Given the description of an element on the screen output the (x, y) to click on. 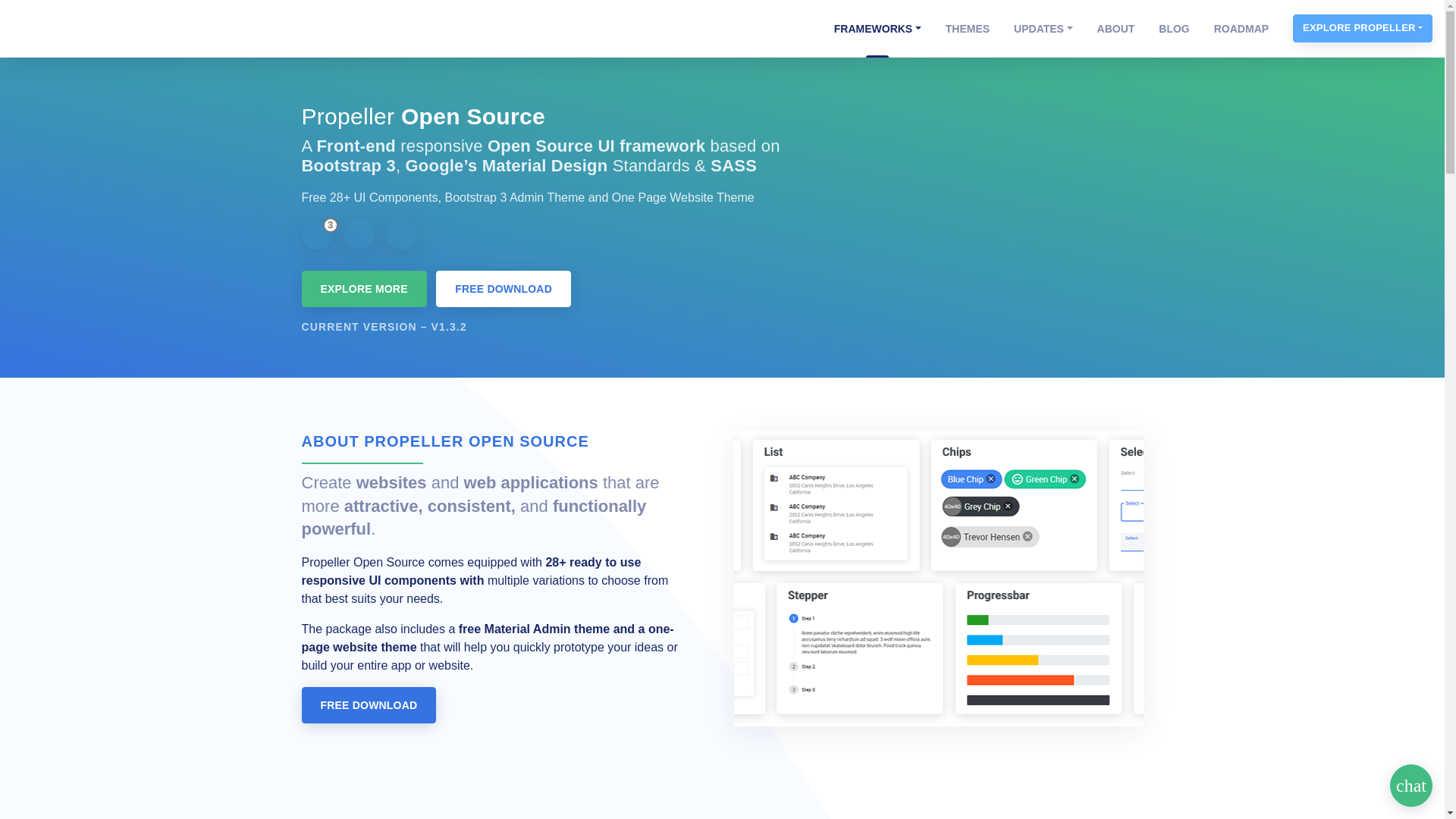
ABOUT (1115, 28)
EXPLORE MORE (363, 289)
Blog (1174, 28)
THEMES (967, 28)
UPDATES (1042, 28)
Roadmap (1241, 28)
SCSS (401, 234)
THEMES (967, 28)
ROADMAP (1241, 28)
Google Material Design (358, 234)
